Given the description of an element on the screen output the (x, y) to click on. 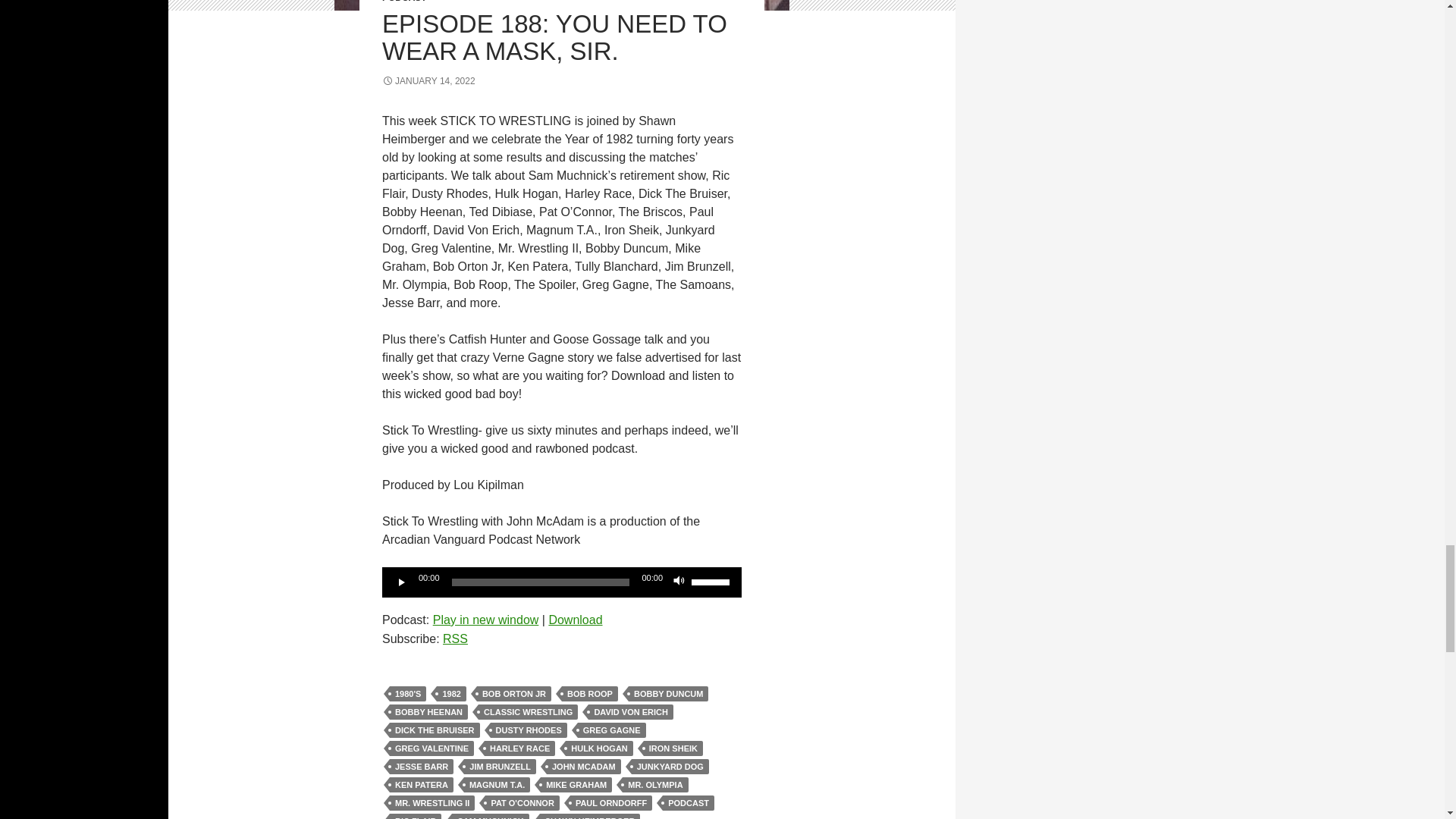
Mute (679, 581)
Play (401, 581)
Subscribe via RSS (454, 638)
Download (575, 619)
Play in new window (485, 619)
